Given the description of an element on the screen output the (x, y) to click on. 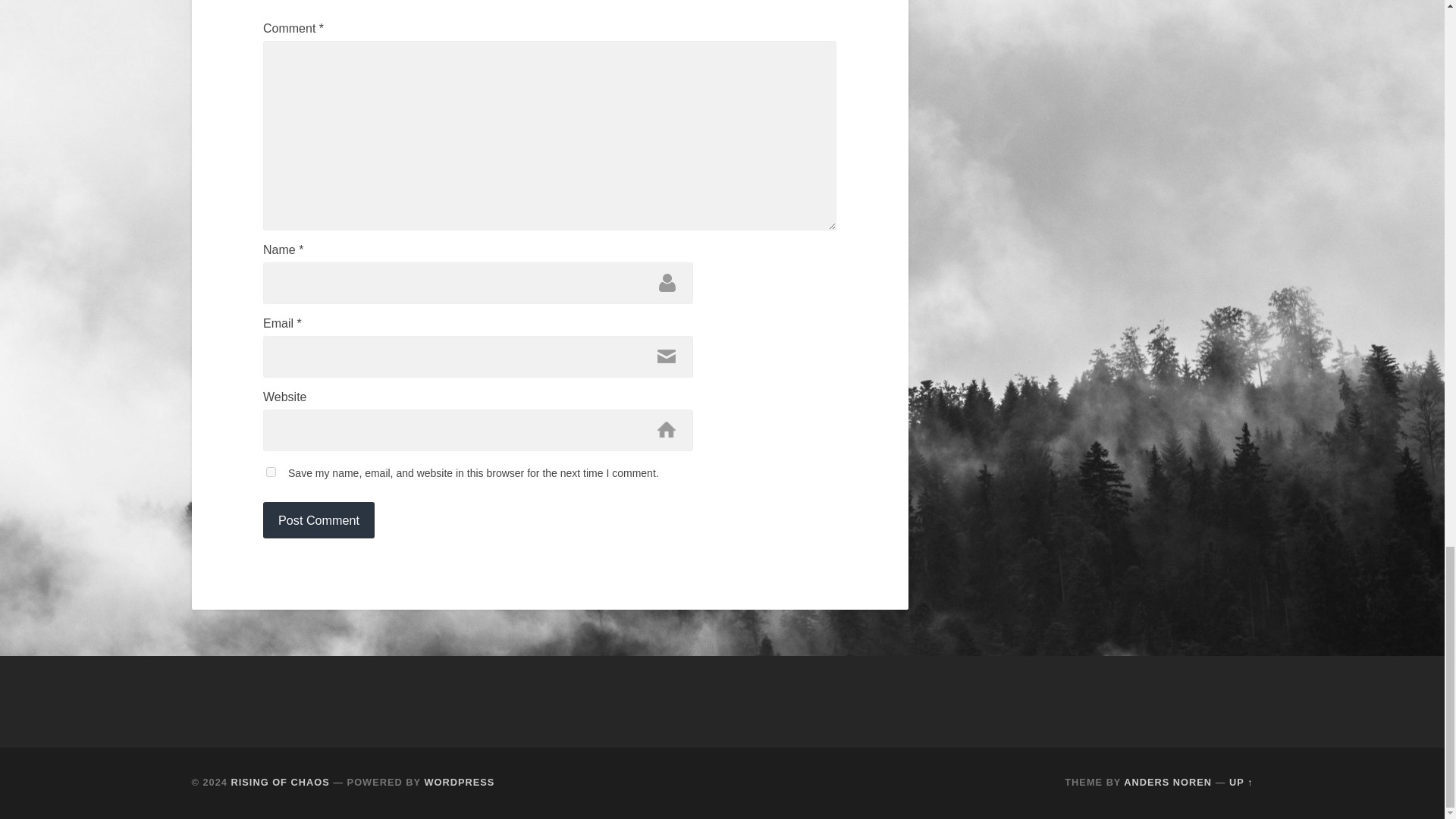
Post Comment (318, 520)
Post Comment (318, 520)
yes (271, 471)
